Given the description of an element on the screen output the (x, y) to click on. 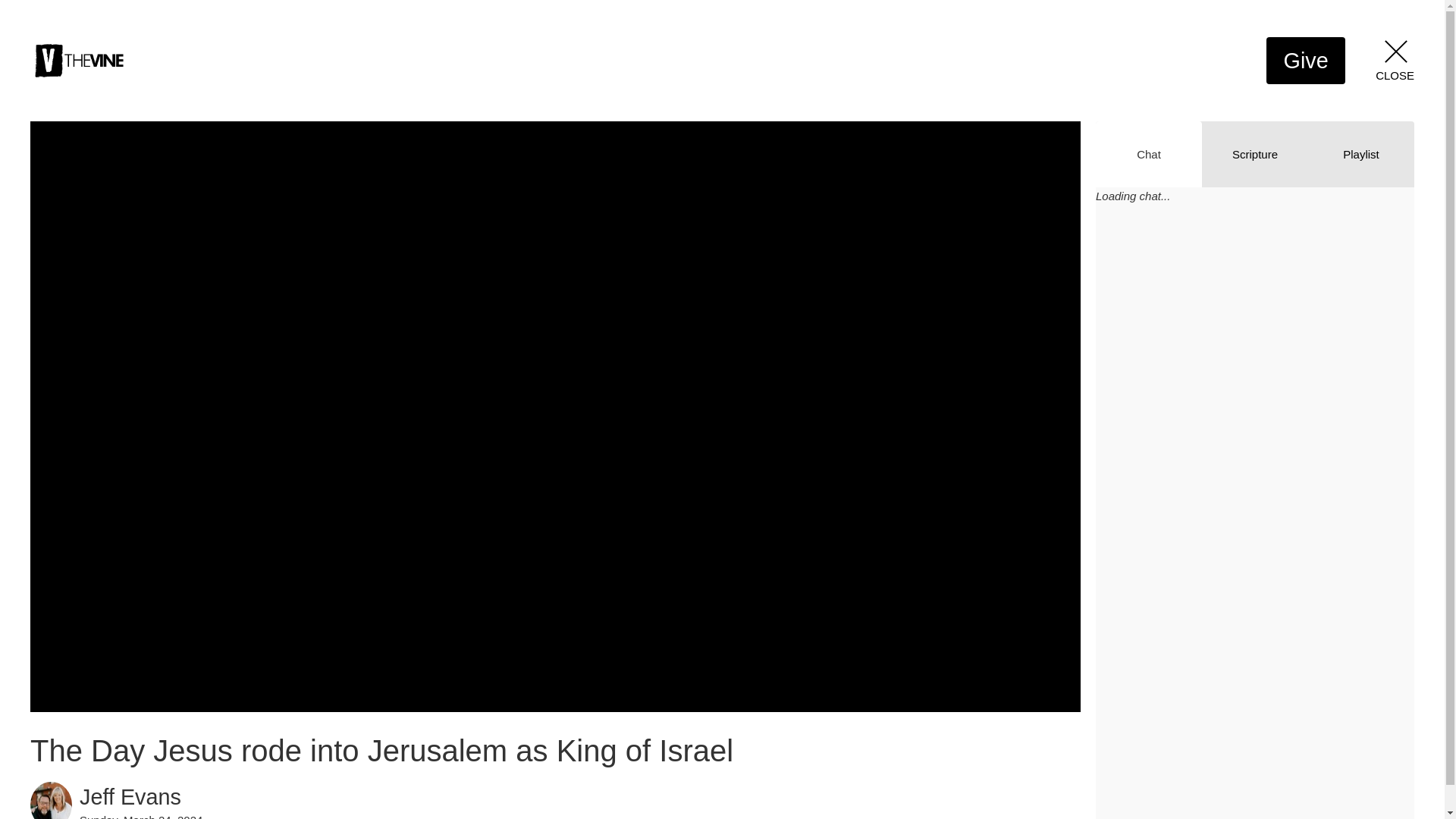
Give (1305, 60)
